Given the description of an element on the screen output the (x, y) to click on. 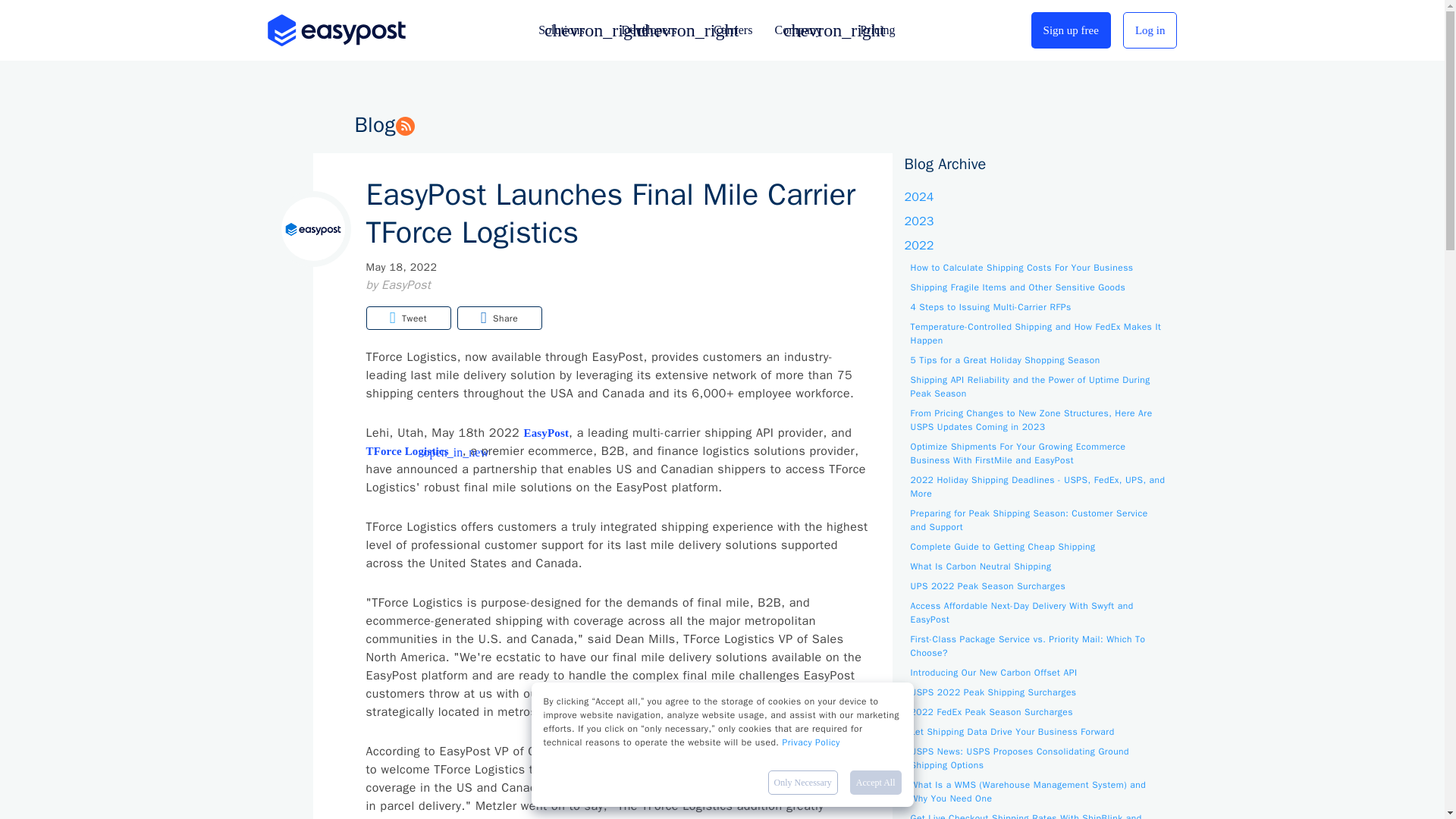
Share on LinkedIn (499, 318)
Privacy Policy (811, 742)
Only Necessary (803, 782)
Accept All (875, 782)
Share on Twitter (407, 318)
